Given the description of an element on the screen output the (x, y) to click on. 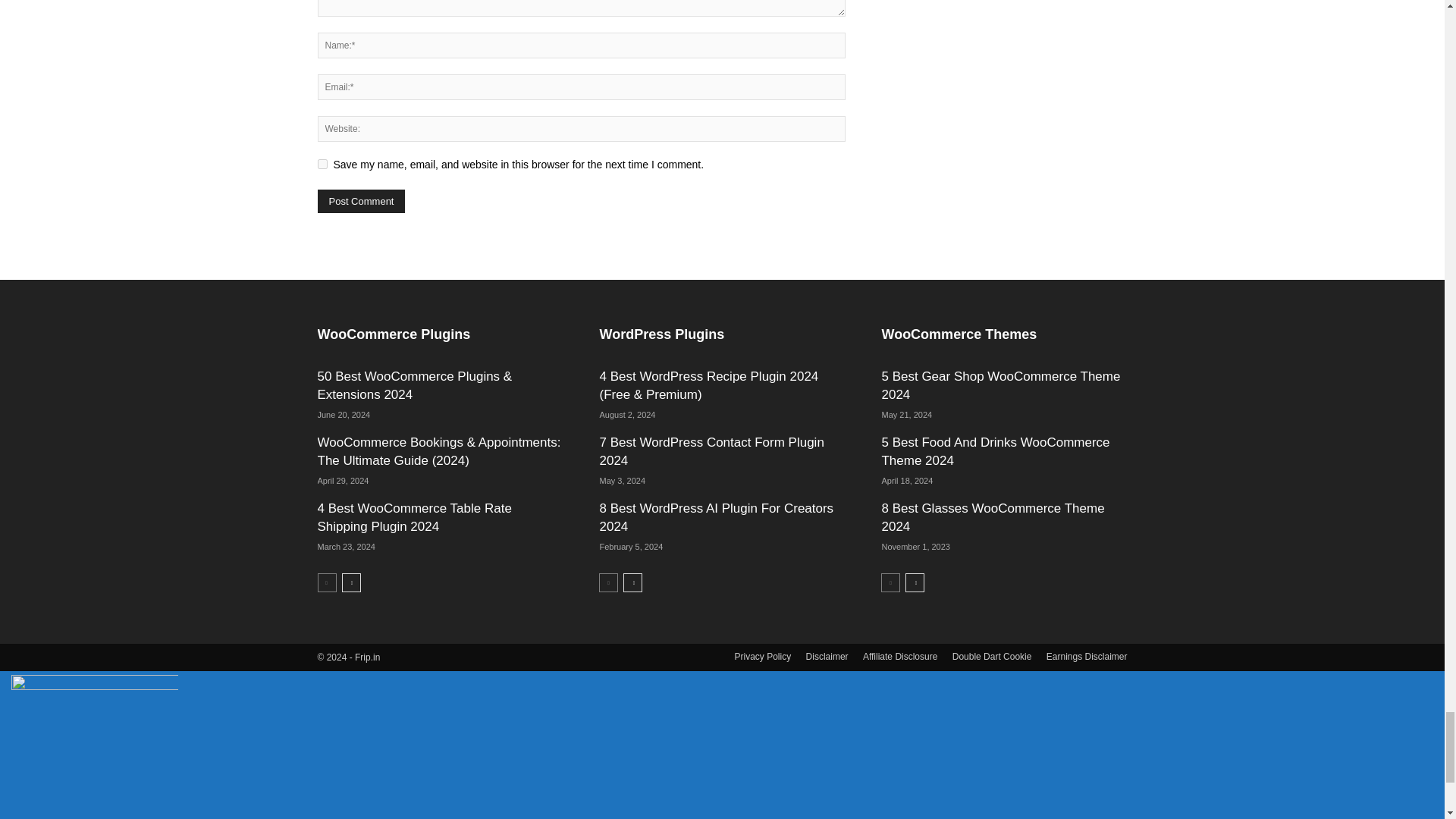
Post Comment (360, 200)
yes (321, 163)
